Given the description of an element on the screen output the (x, y) to click on. 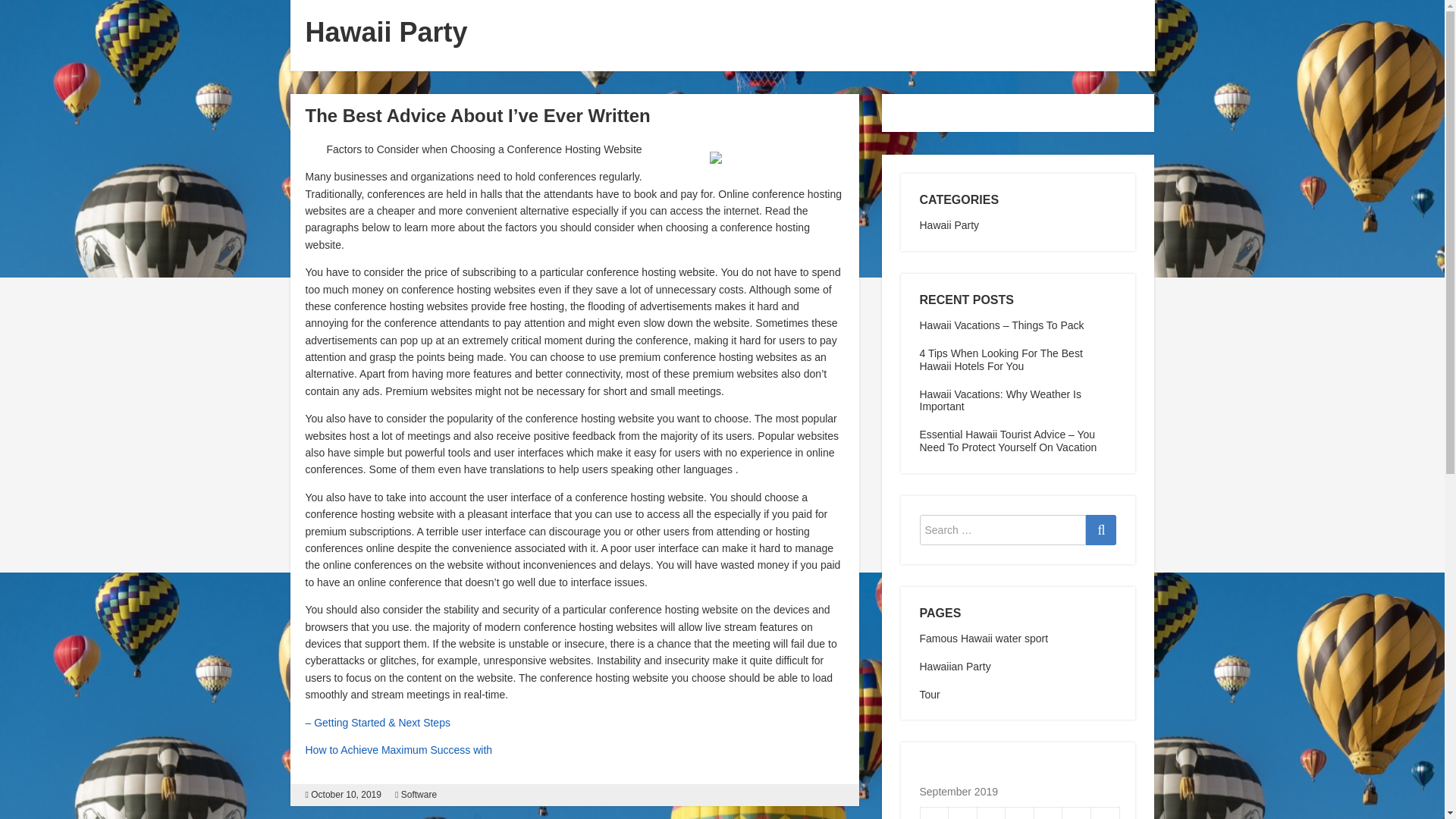
Thursday (1019, 812)
Sunday (1104, 812)
October 10, 2019 (346, 794)
Tour (928, 694)
Friday (1047, 812)
Software (418, 794)
Hawaiian Party (954, 666)
How to Achieve Maximum Success with (398, 749)
Hawaii Vacations: Why Weather Is Important (999, 400)
Wednesday (991, 812)
